Given the description of an element on the screen output the (x, y) to click on. 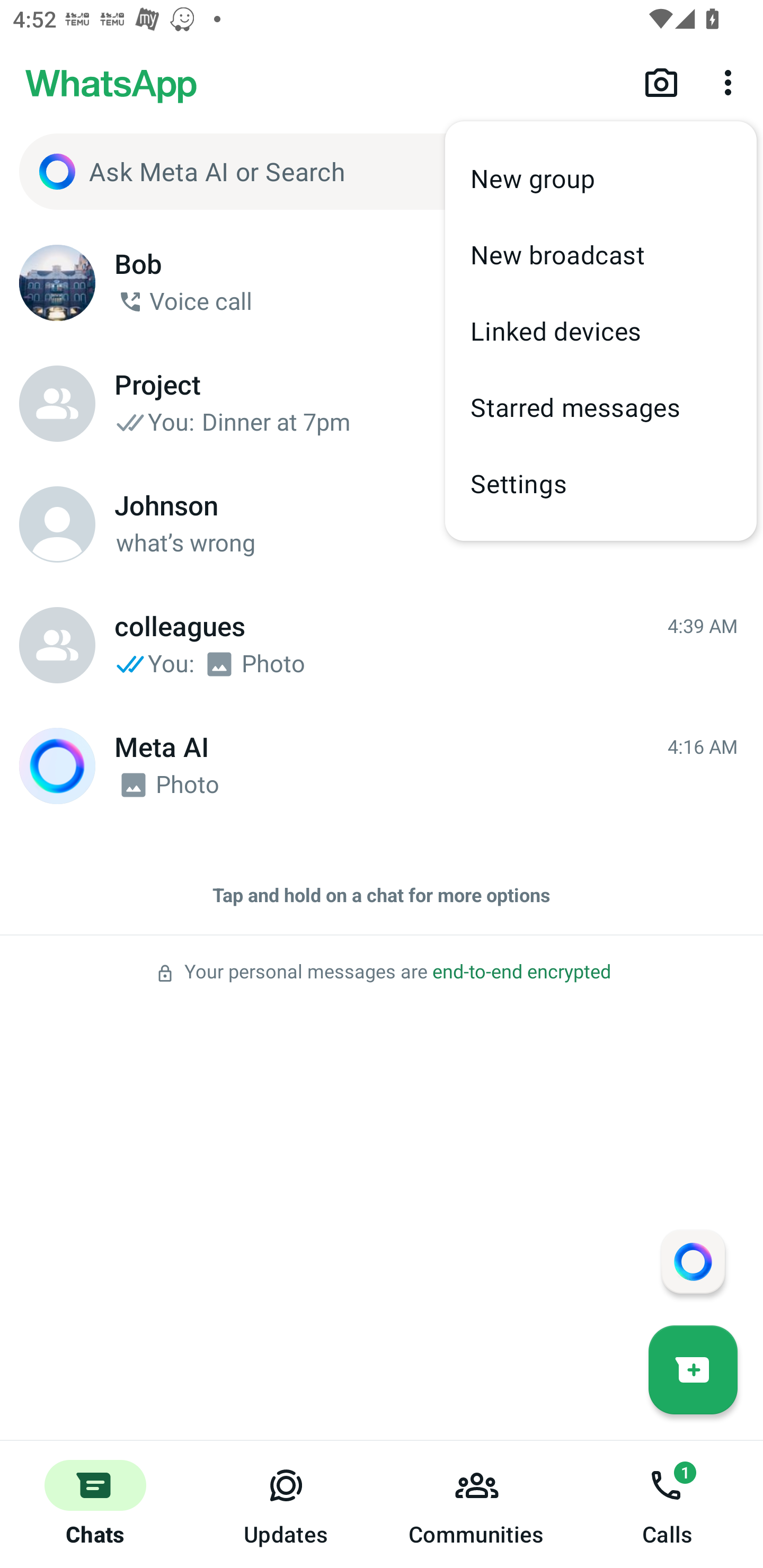
New group (600, 178)
New broadcast (600, 254)
Linked devices (600, 330)
Starred messages (600, 406)
Settings (600, 483)
